Given the description of an element on the screen output the (x, y) to click on. 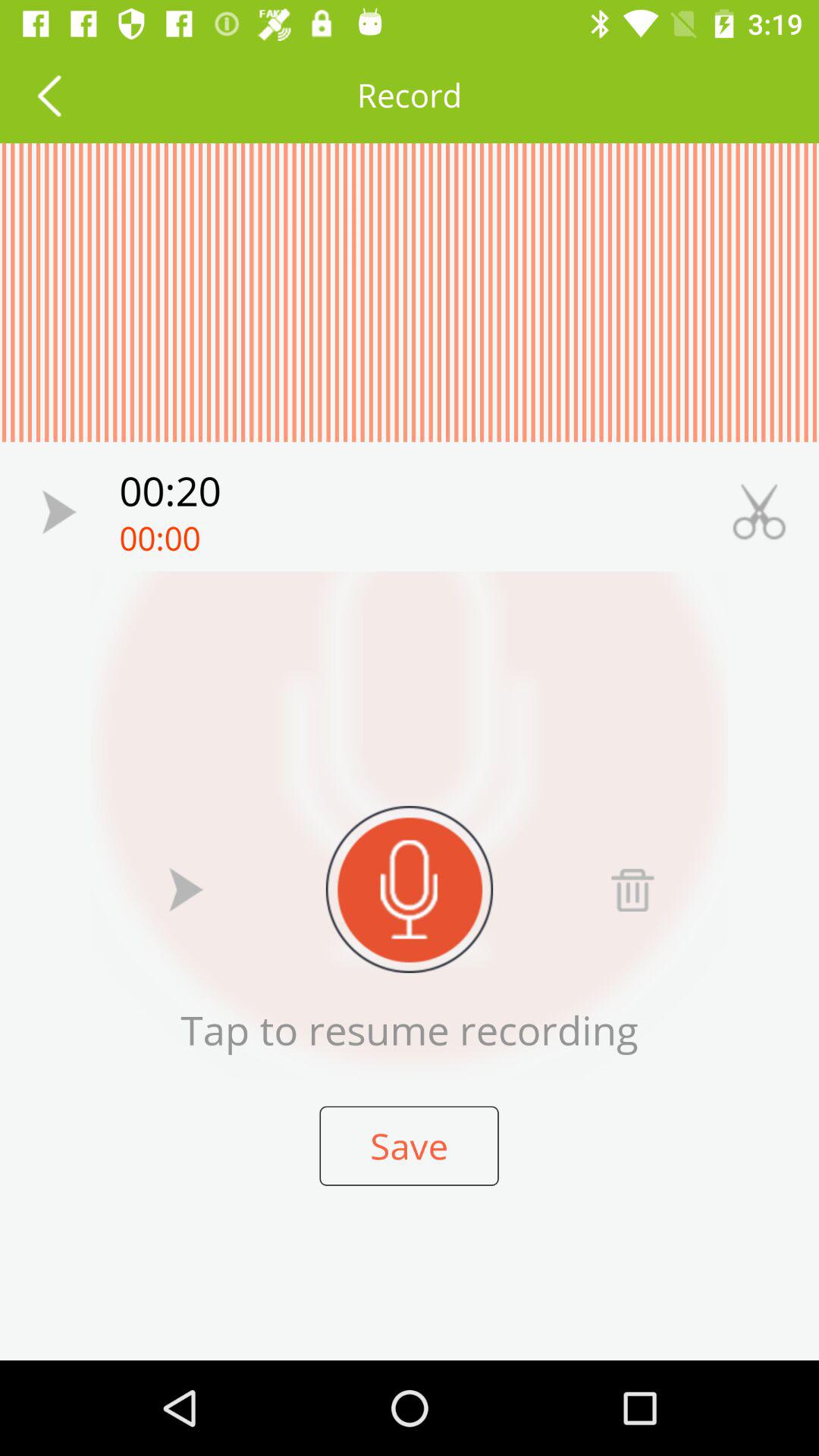
speak now (409, 889)
